Given the description of an element on the screen output the (x, y) to click on. 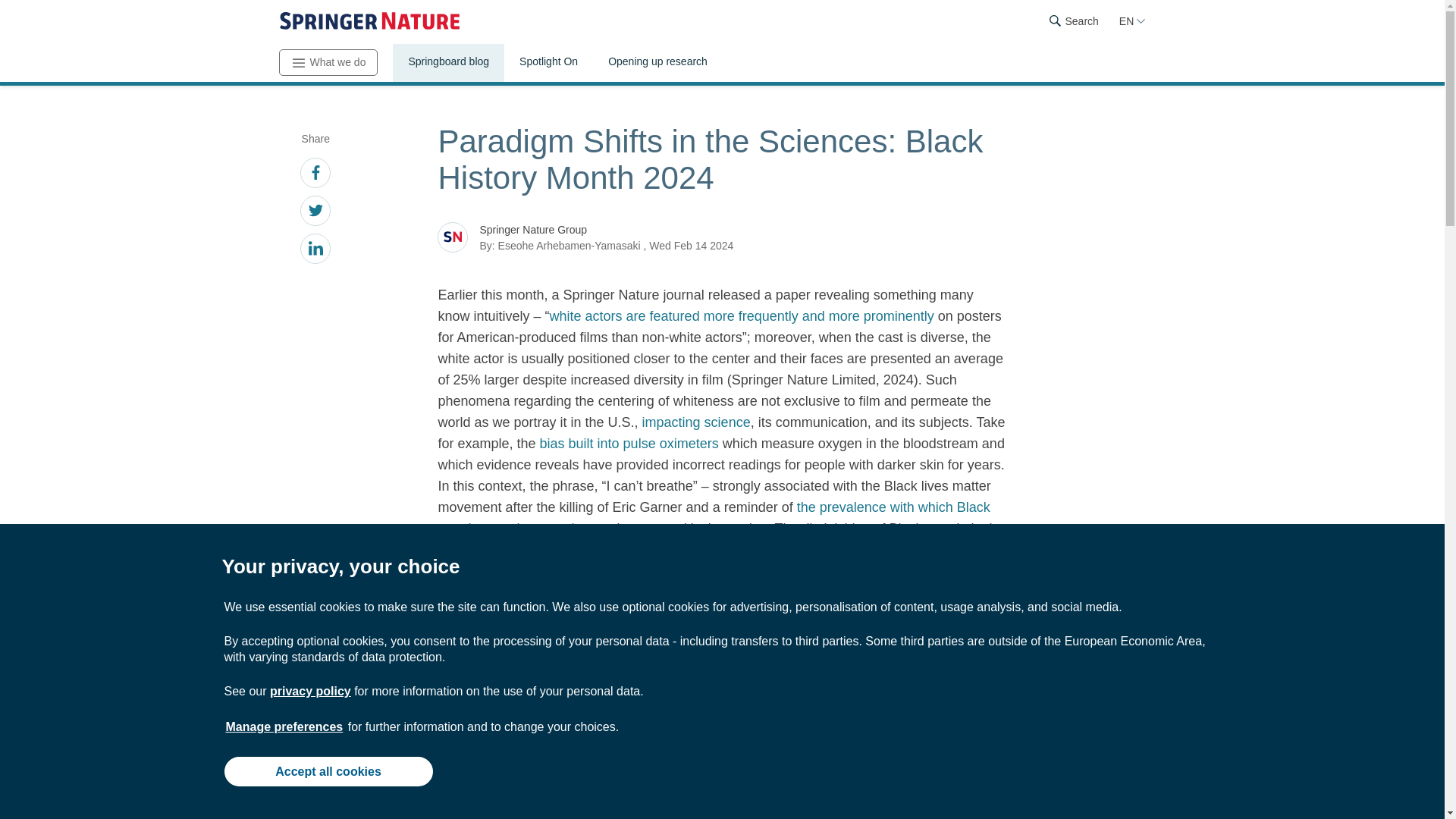
Springboard blog (448, 62)
facebook (315, 174)
Spotlight On (547, 62)
Opening up research (657, 62)
Springer Nature (369, 20)
Accept all cookies (328, 771)
linkedin (315, 250)
Manage preferences (284, 726)
privacy policy (309, 690)
twitter (315, 212)
What we do (328, 62)
